Given the description of an element on the screen output the (x, y) to click on. 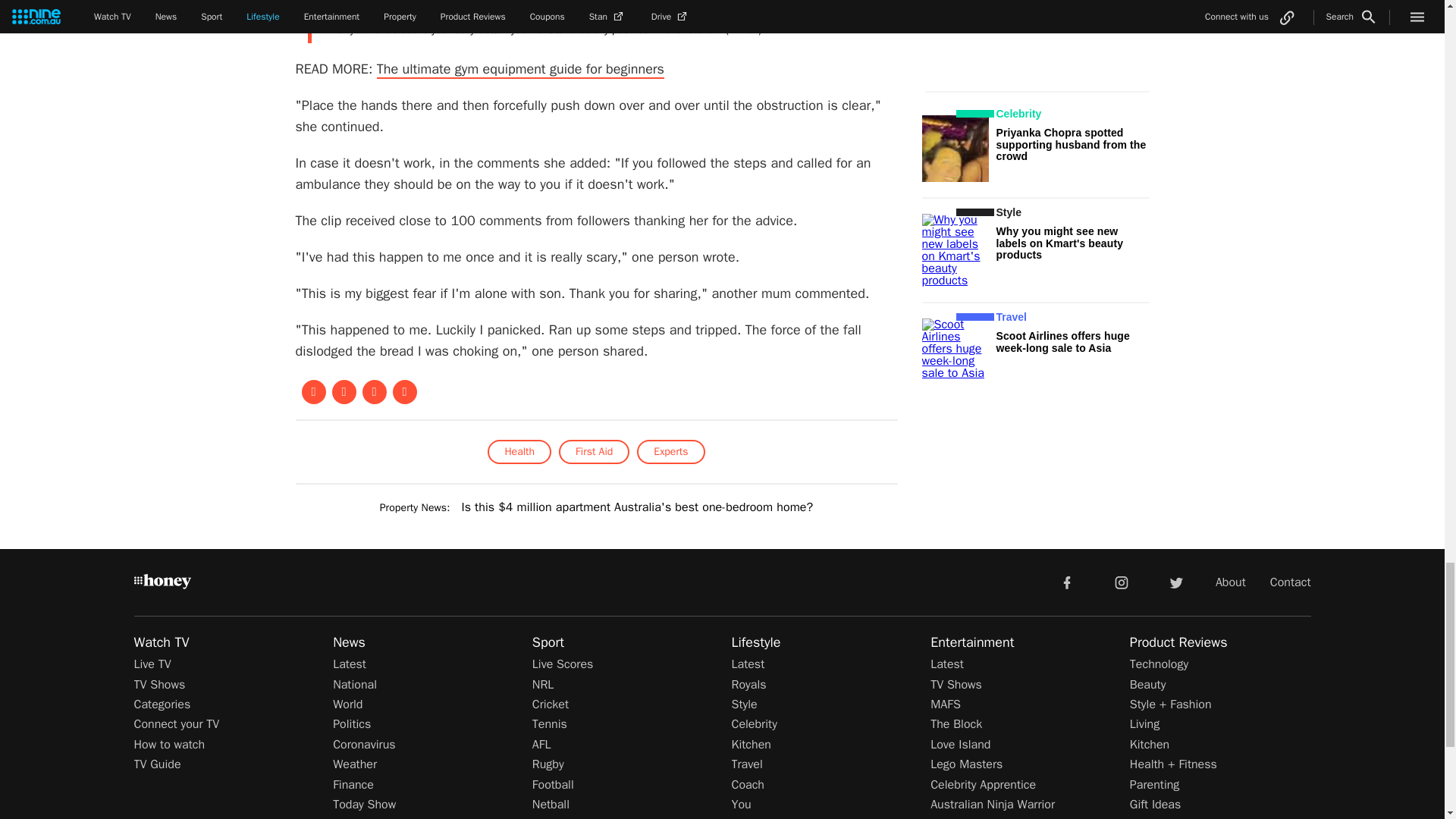
Health (519, 451)
First Aid (593, 451)
Experts (670, 451)
instagram (1121, 581)
The ultimate gym equipment guide for beginners (520, 69)
facebook (1066, 581)
twitter (1175, 581)
The ultimate gym equipment guide for beginners (520, 69)
